Given the description of an element on the screen output the (x, y) to click on. 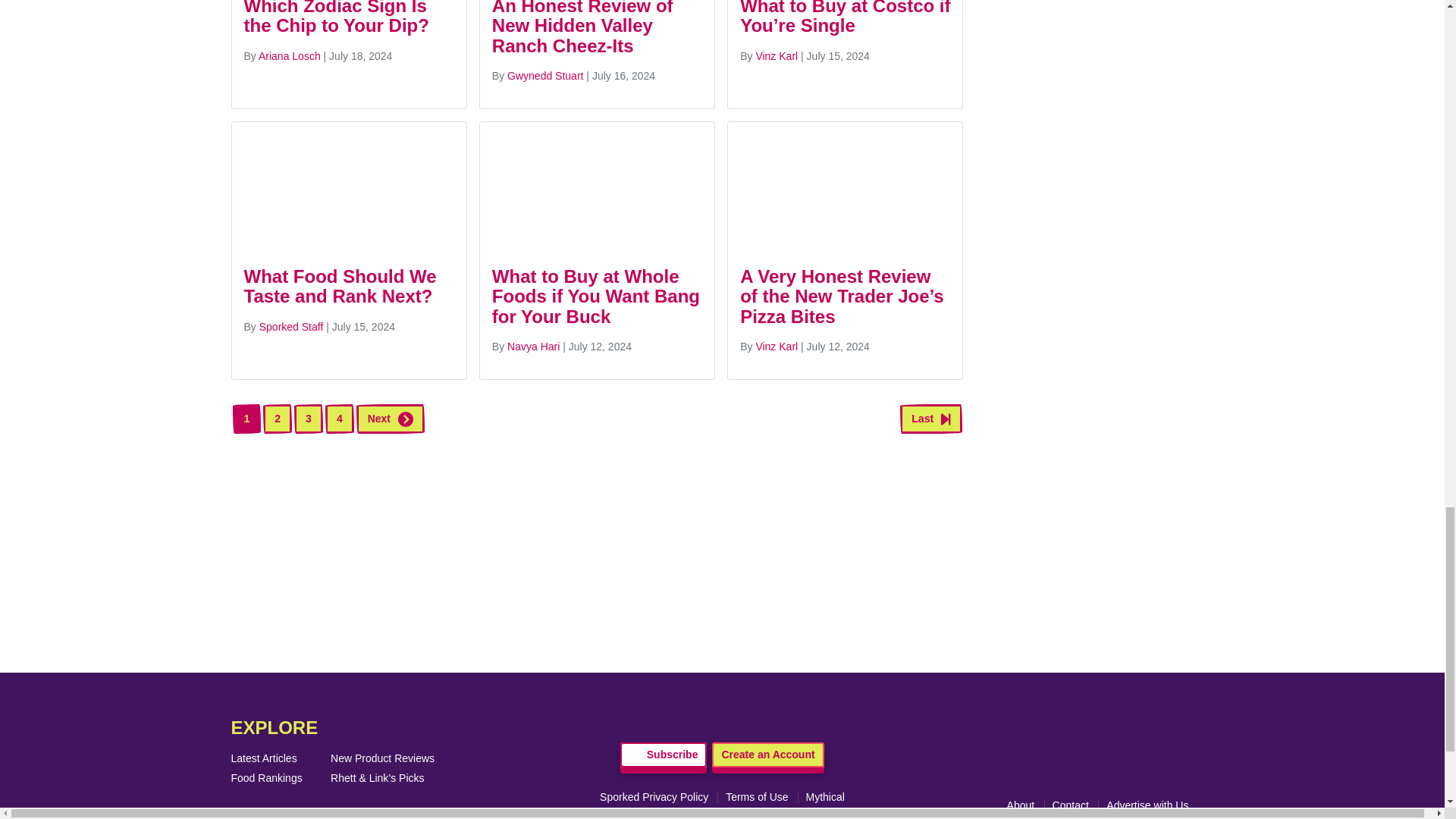
Posts by Sporked Staff (291, 326)
Posts by Vinz Karl (776, 55)
Posts by Gwynedd Stuart (544, 75)
Posts by Ariana Losch (289, 55)
Posts by Navya Hari (532, 346)
